Given the description of an element on the screen output the (x, y) to click on. 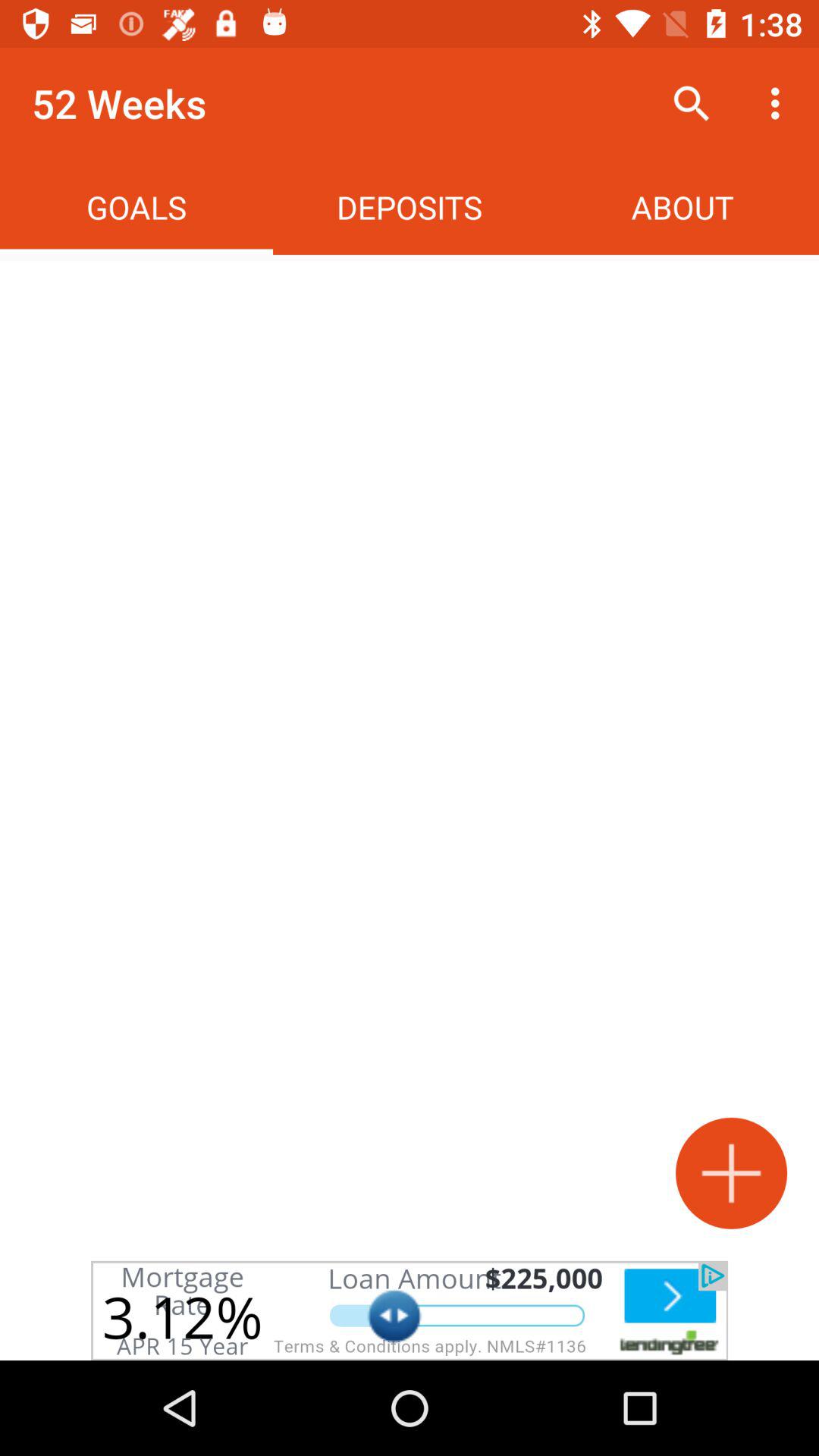
know about the advertisement (409, 1310)
